Given the description of an element on the screen output the (x, y) to click on. 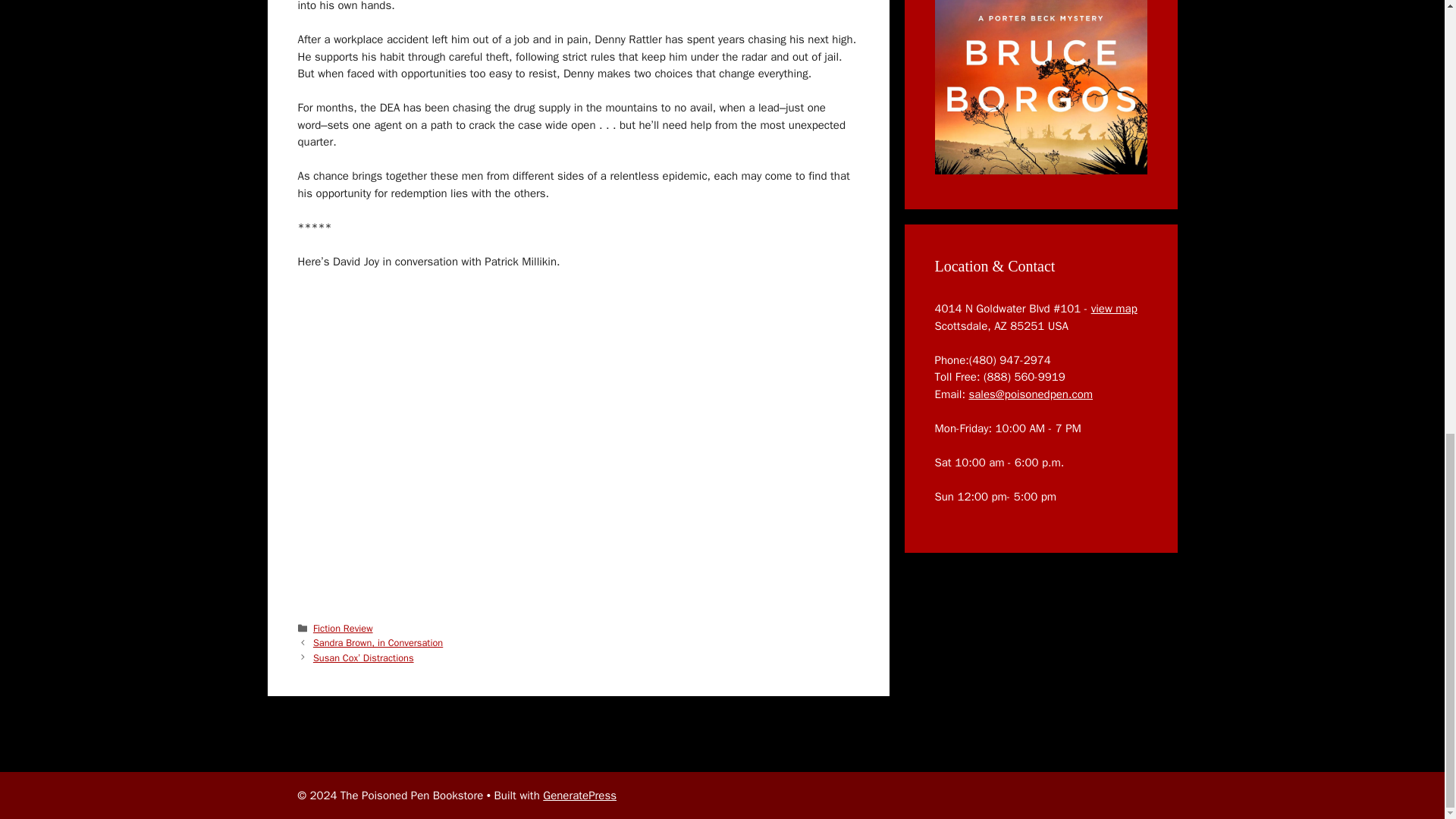
Scroll back to top (1406, 612)
Sandra Brown, in Conversation (377, 643)
Fiction Review (342, 628)
